Given the description of an element on the screen output the (x, y) to click on. 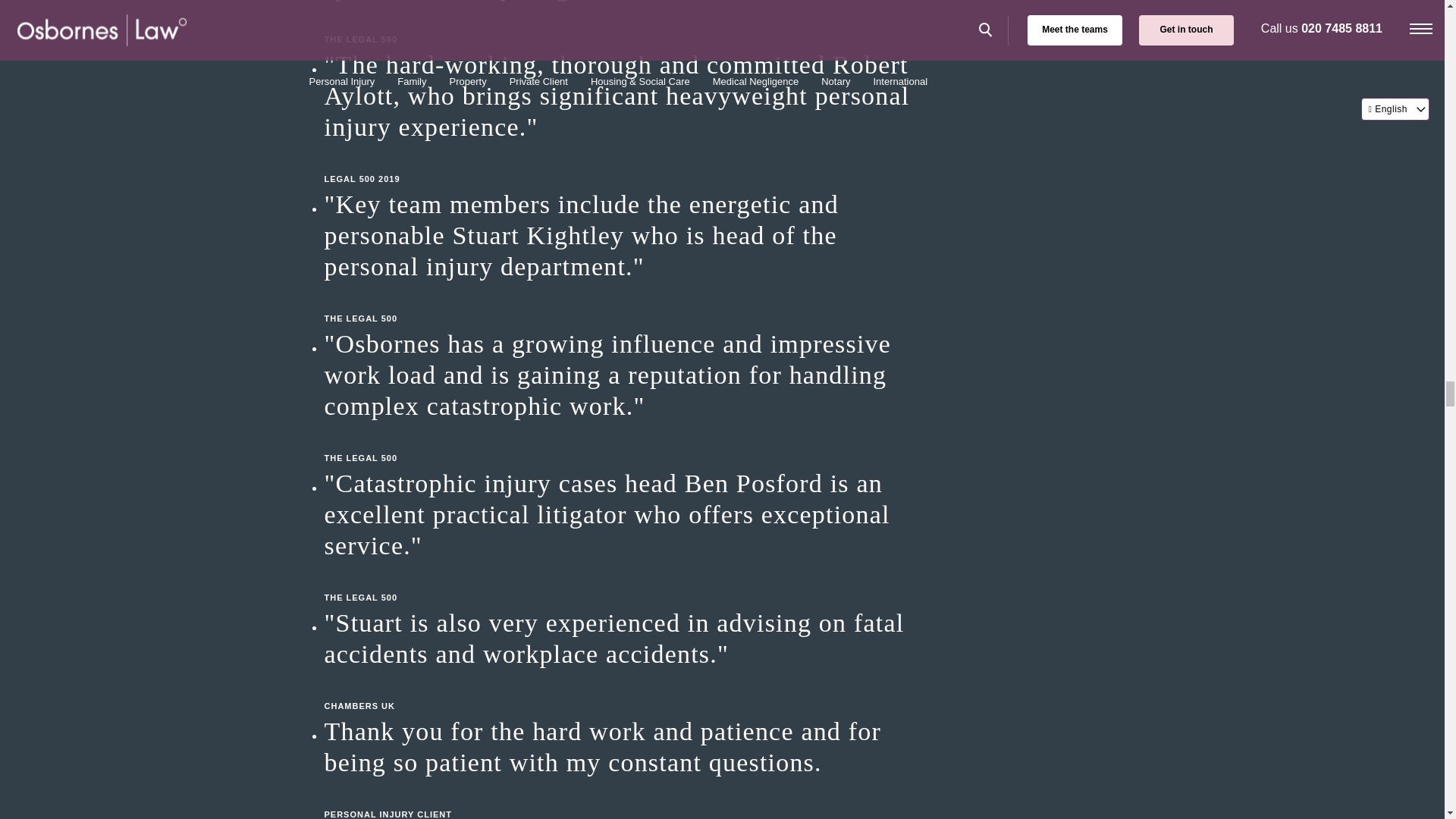
CHAMBERS UK (627, 690)
THE LEGAL 500 (627, 582)
THE LEGAL 500 (627, 24)
THE LEGAL 500 (627, 442)
LEGAL 500 2019 (627, 163)
PERSONAL INJURY CLIENT (627, 798)
THE LEGAL 500 (627, 302)
